Given the description of an element on the screen output the (x, y) to click on. 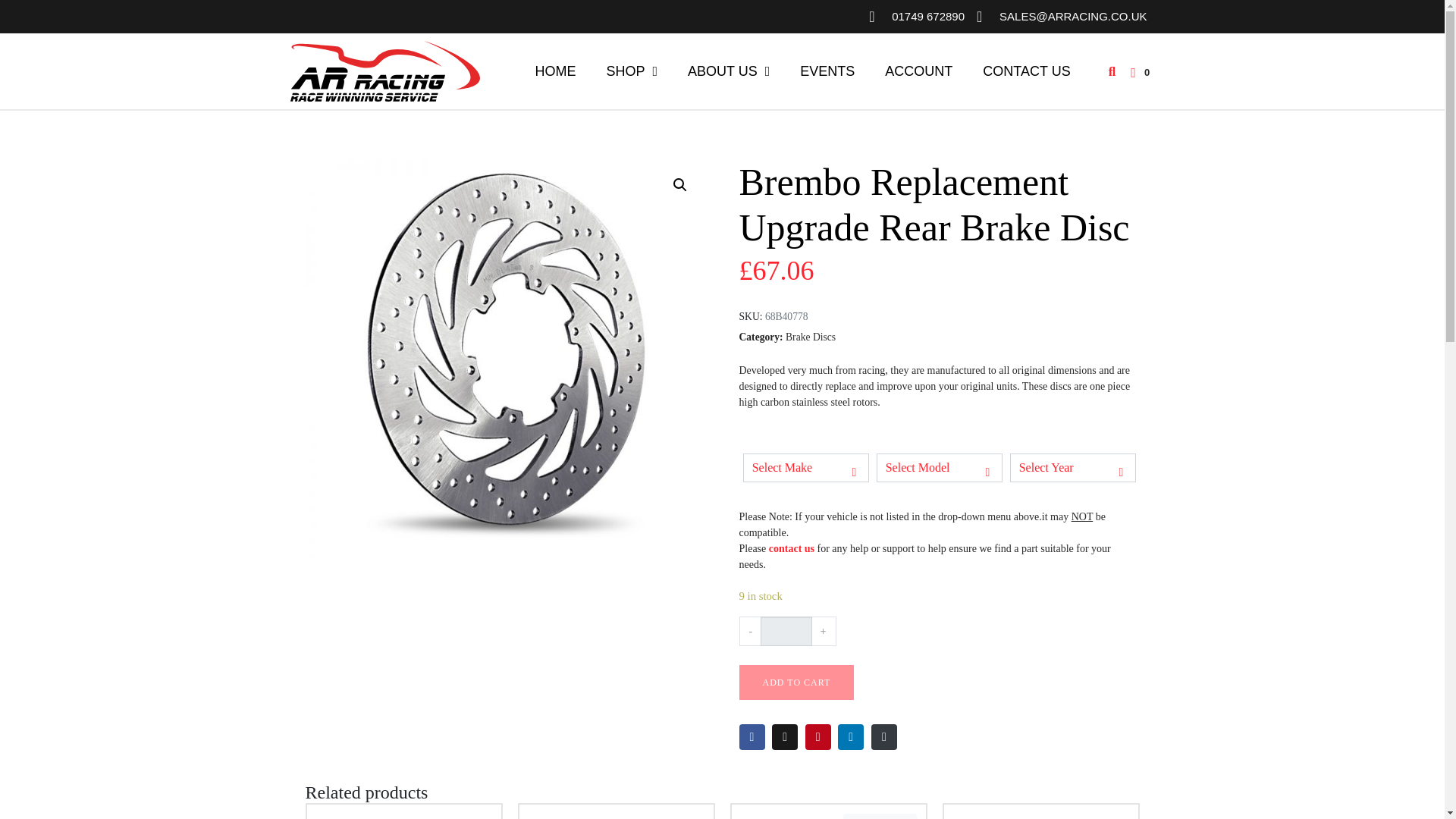
SHOP (631, 70)
Select Year (1072, 467)
01749 672890 (916, 16)
Select Model (938, 467)
Select Make (804, 467)
HOME (555, 70)
